Given the description of an element on the screen output the (x, y) to click on. 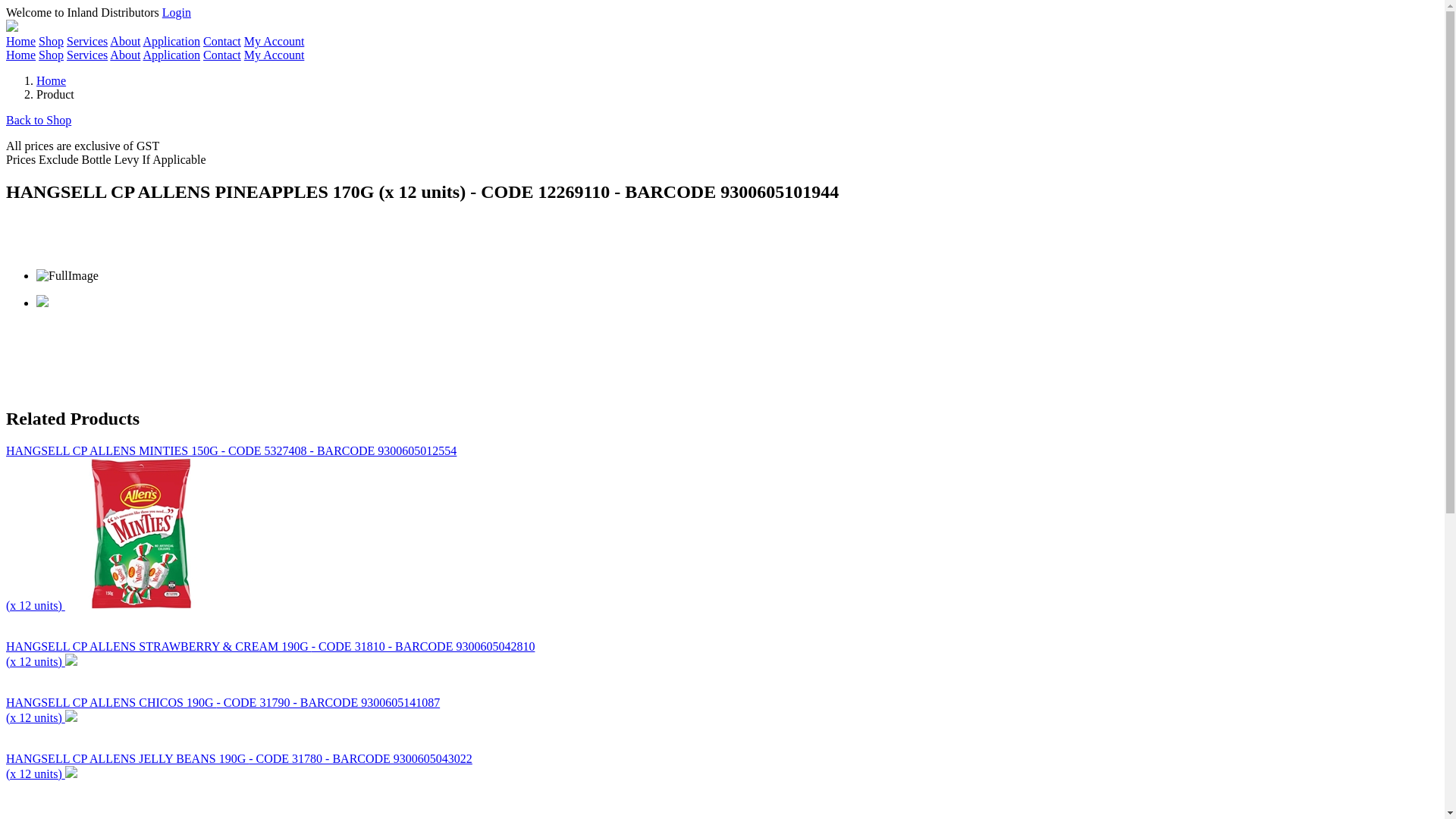
My Account Element type: text (274, 54)
Home Element type: text (20, 54)
Services Element type: text (86, 54)
Application Element type: text (171, 40)
My Account Element type: text (274, 40)
Shop Element type: text (50, 54)
Contact Element type: text (222, 54)
Login Element type: text (176, 12)
About Element type: text (124, 40)
Services Element type: text (86, 40)
About Element type: text (124, 54)
Back to Shop Element type: text (38, 119)
Contact Element type: text (222, 40)
Home Element type: text (50, 80)
Home Element type: text (20, 40)
Application Element type: text (171, 54)
Shop Element type: text (50, 40)
